Given the description of an element on the screen output the (x, y) to click on. 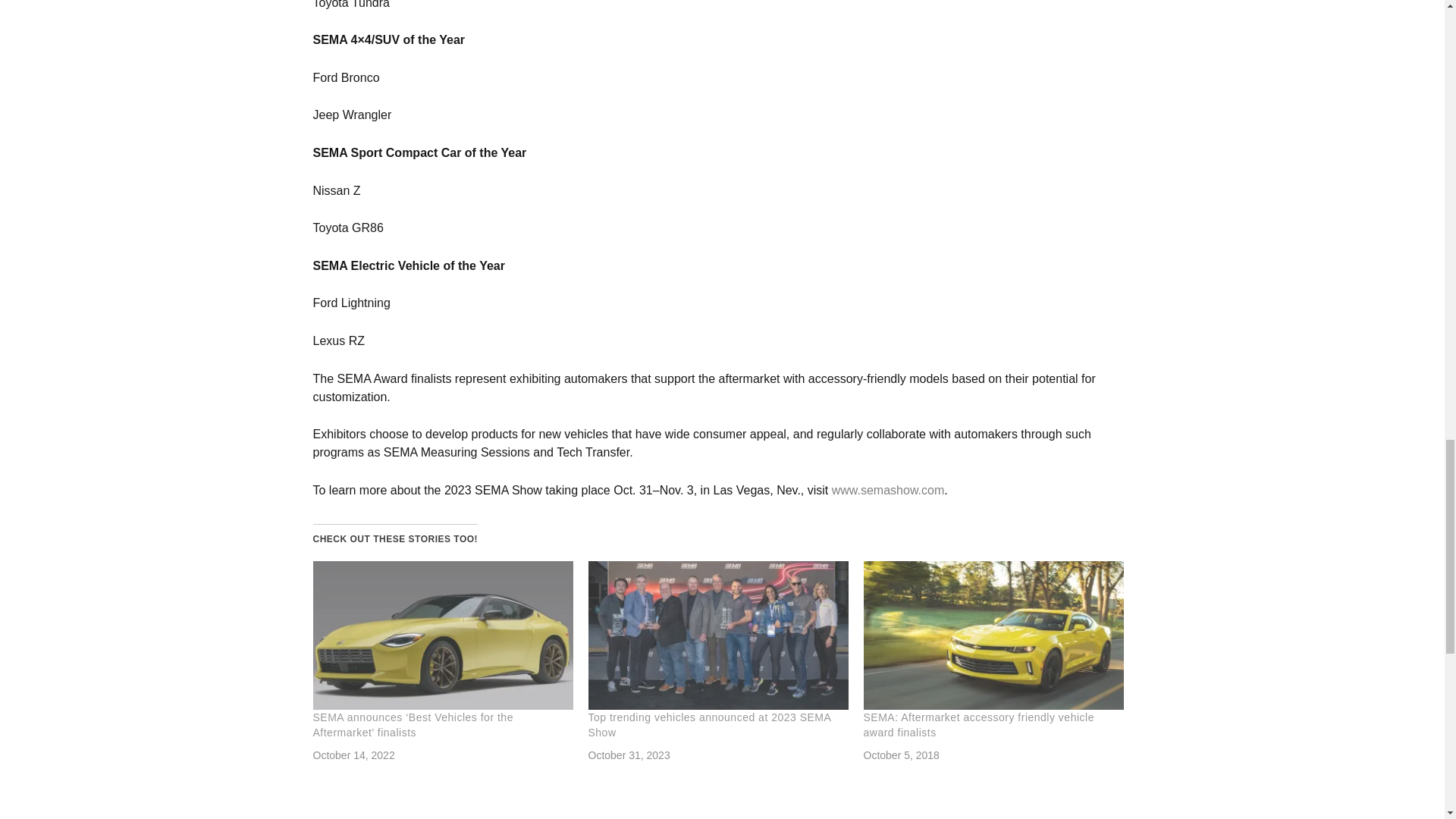
www.semashow.com (887, 490)
Top trending vehicles announced at 2023 SEMA Show (709, 724)
SEMA: Aftermarket accessory friendly vehicle award finalists (992, 635)
Top trending vehicles announced at 2023 SEMA Show (709, 724)
SEMA: Aftermarket accessory friendly vehicle award finalists (978, 724)
Top trending vehicles announced at 2023 SEMA Show (718, 635)
3rd party ad content (1017, 35)
